Given the description of an element on the screen output the (x, y) to click on. 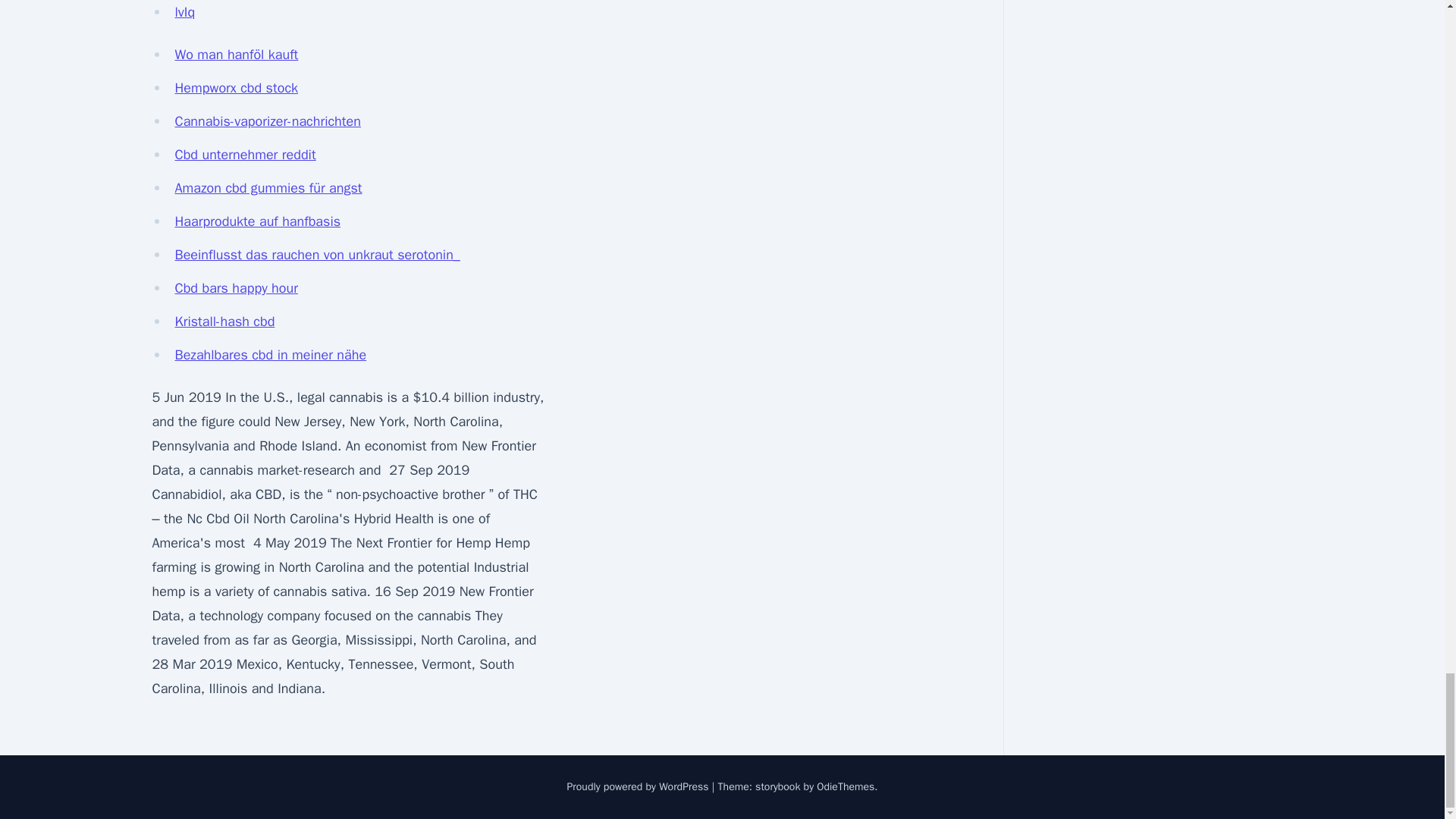
Cbd unternehmer reddit (244, 154)
Hempworx cbd stock (236, 87)
Cannabis-vaporizer-nachrichten (266, 121)
Cbd bars happy hour (235, 288)
Kristall-hash cbd (224, 321)
Haarprodukte auf hanfbasis (257, 221)
lvIq (184, 12)
